Given the description of an element on the screen output the (x, y) to click on. 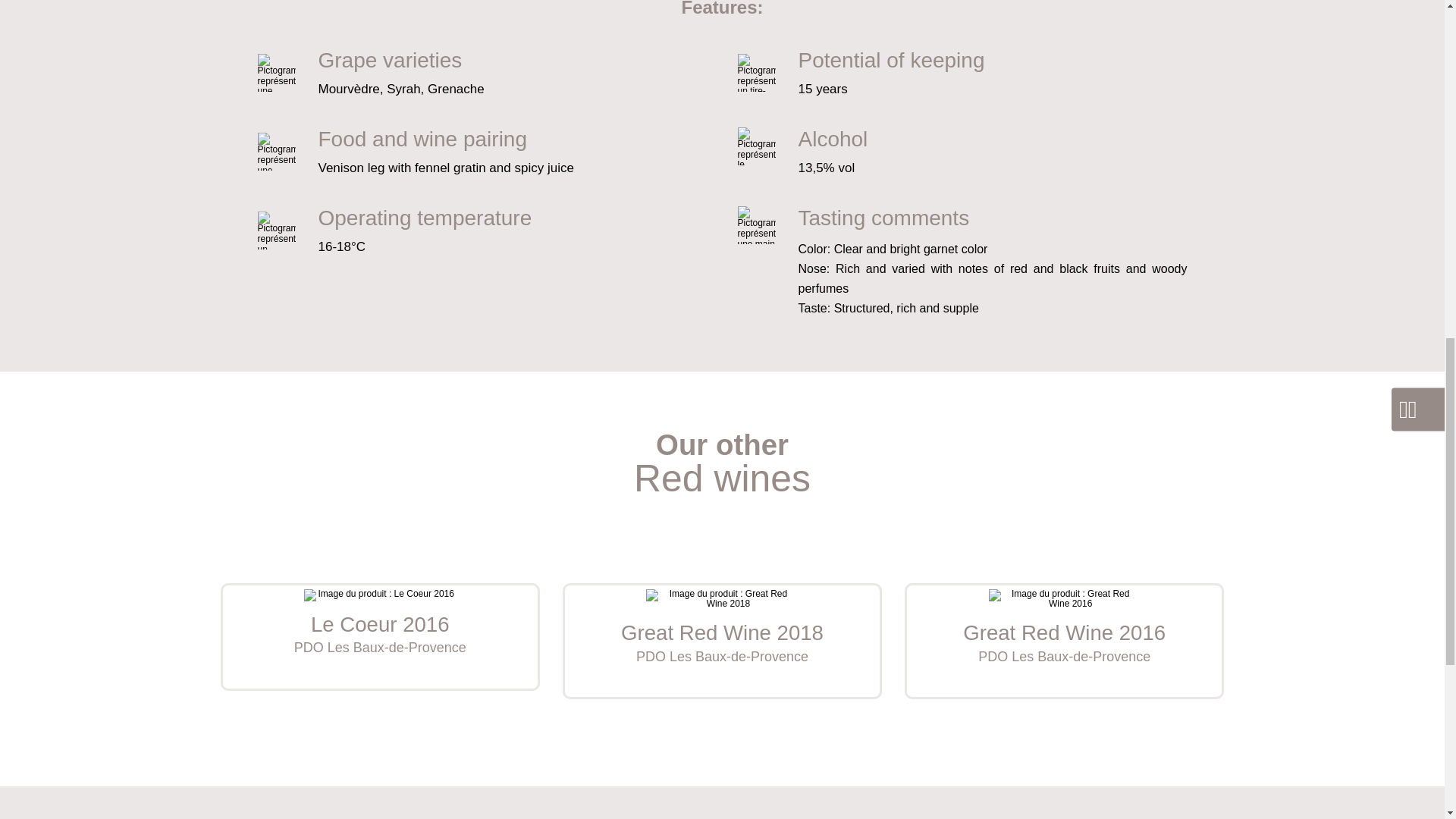
Le Coeur 2016 (722, 641)
Great Red Wine 2018 (380, 637)
Great Red Wine 2016 (722, 641)
